Given the description of an element on the screen output the (x, y) to click on. 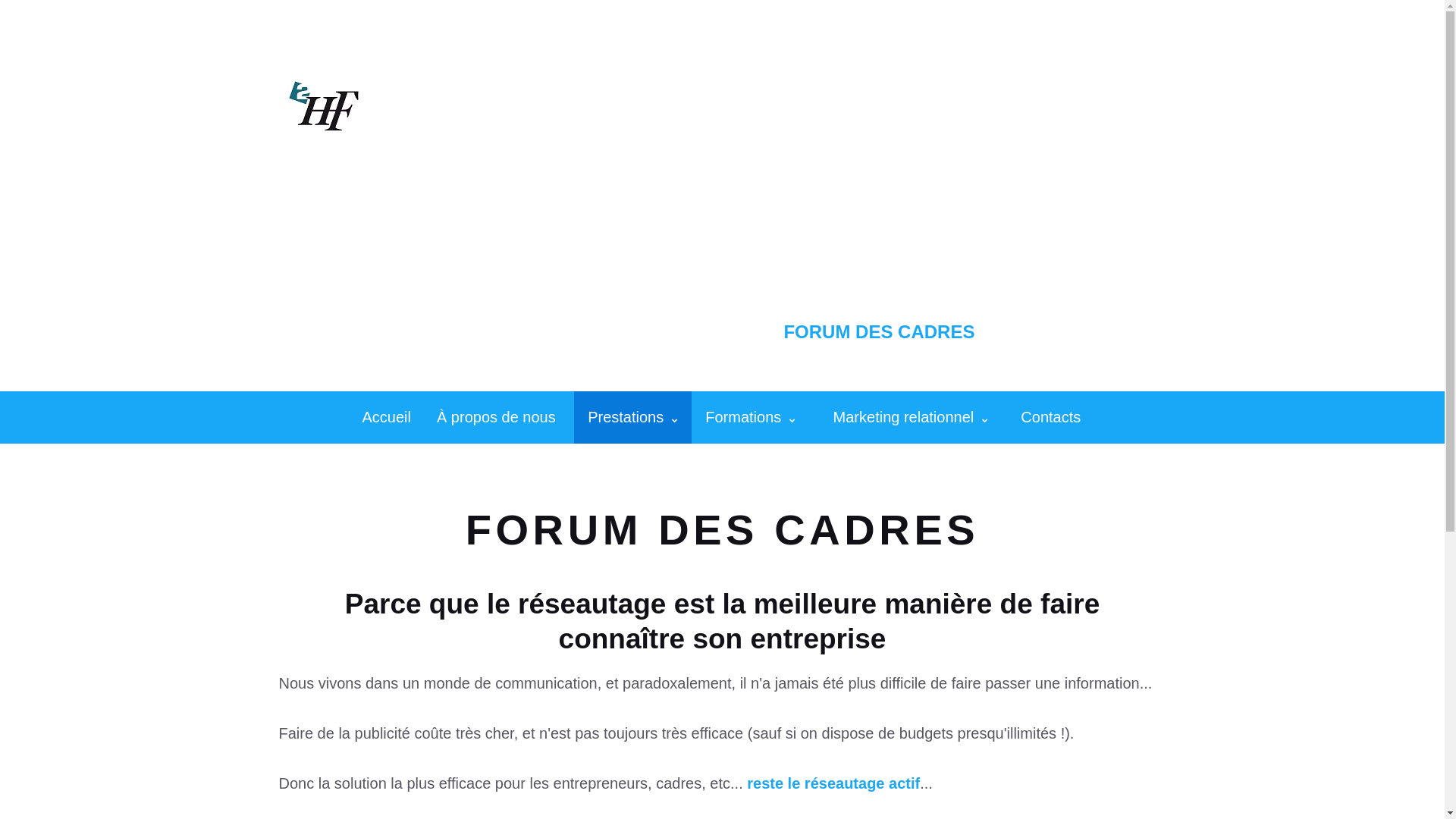
ACCUEIL Element type: text (510, 331)
Contacts Element type: text (1050, 417)
Prestations Element type: text (632, 417)
Formations Element type: text (750, 417)
Accueil Element type: text (386, 417)
Marketing relationnel Element type: text (910, 417)
